Given the description of an element on the screen output the (x, y) to click on. 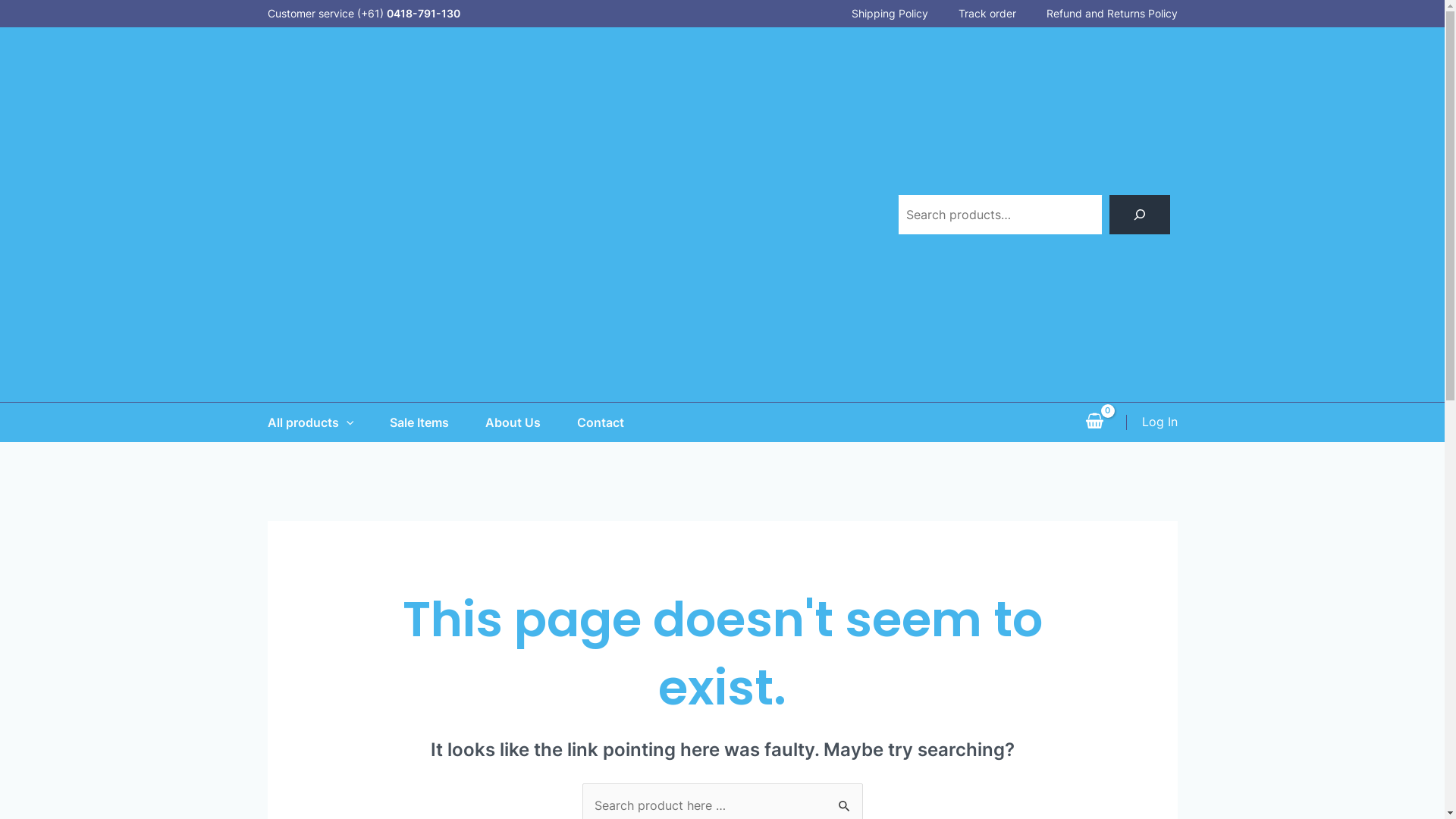
About Us Element type: text (531, 422)
Sale Items Element type: text (437, 422)
Log In Element type: text (1159, 422)
Track order Element type: text (972, 13)
All products Element type: text (327, 422)
Contact Element type: text (618, 422)
Search Element type: text (845, 799)
Shipping Policy Element type: text (873, 13)
Refund and Returns Policy Element type: text (1096, 13)
